Given the description of an element on the screen output the (x, y) to click on. 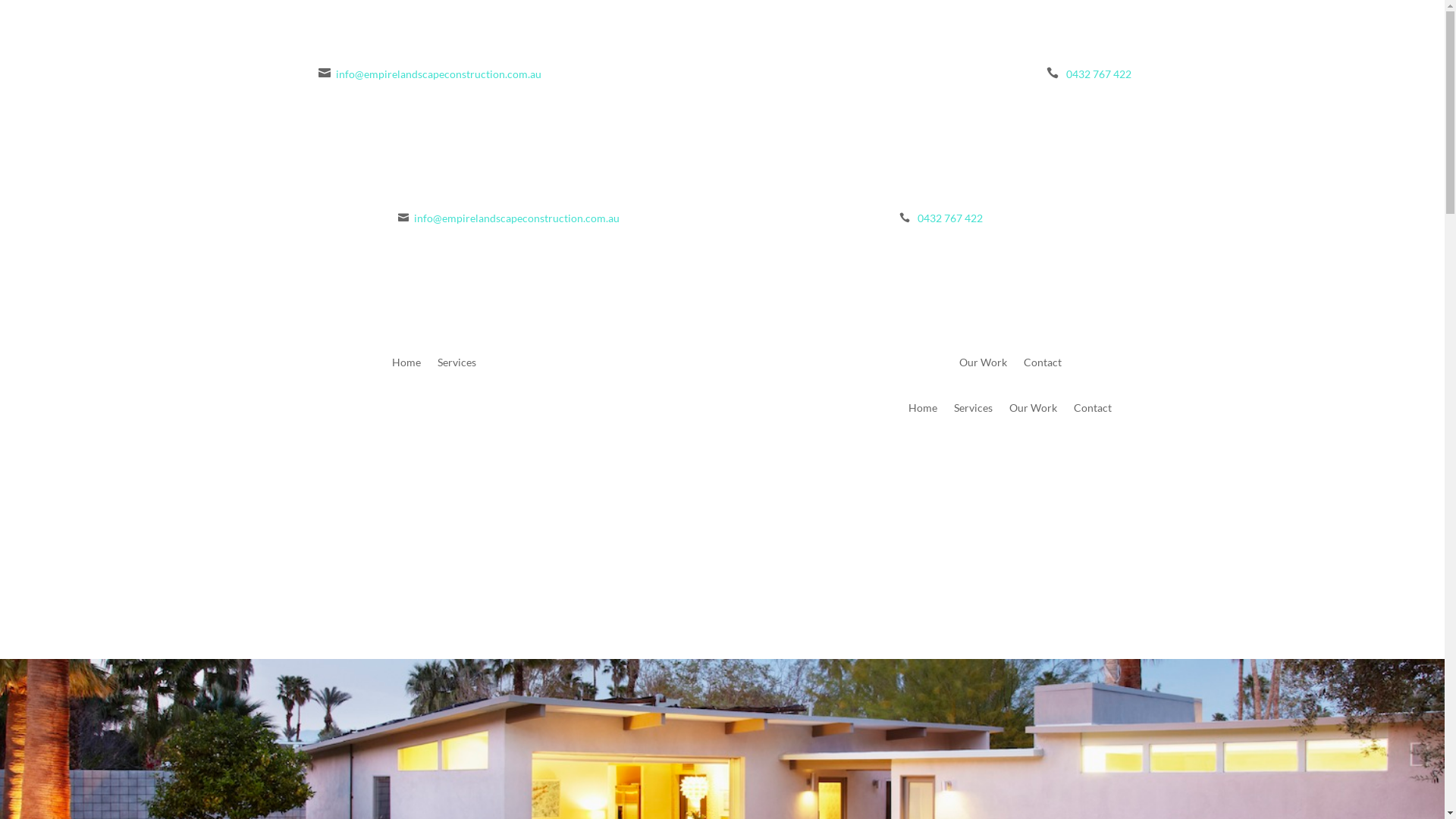
Services Element type: text (972, 410)
Services Element type: text (456, 365)
Contact Element type: text (1042, 365)
info@empirelandscapeconstruction.com.au Element type: text (437, 73)
Home Element type: text (922, 410)
Contact Element type: text (1092, 410)
0432 767 422 Element type: text (1098, 73)
info@empirelandscapeconstruction.com.au Element type: text (516, 217)
Our Work Element type: text (1033, 410)
Home Element type: text (406, 365)
Our Work Element type: text (983, 365)
0432 767 422 Element type: text (949, 217)
